Given the description of an element on the screen output the (x, y) to click on. 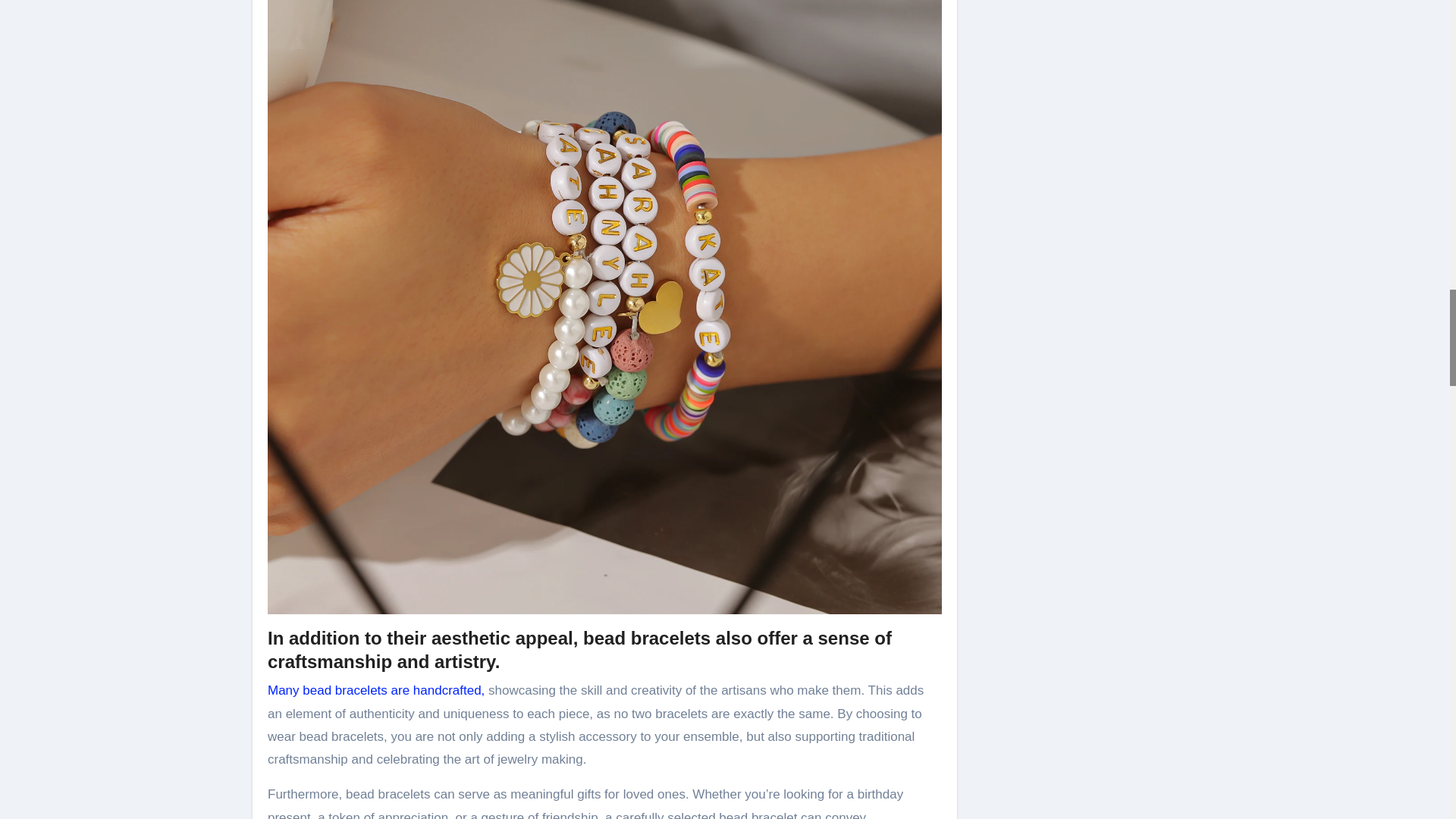
Many bead bracelets are handcrafted, (375, 690)
